Given the description of an element on the screen output the (x, y) to click on. 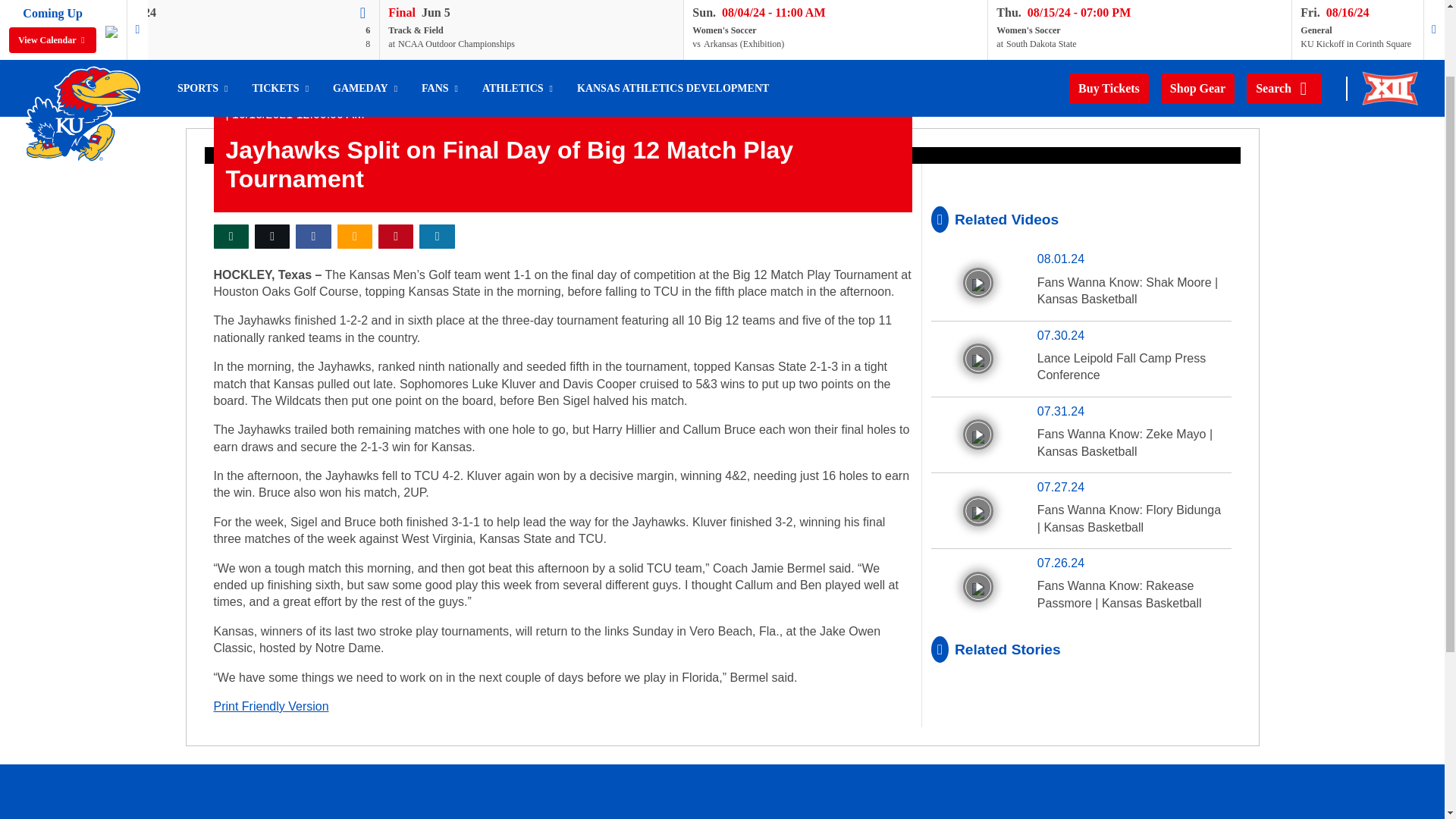
Buy Tickets (1108, 88)
Scoreboard Ad (110, 29)
View Calendar (52, 40)
SPORTS (202, 88)
Shop Gear (1197, 88)
